Given the description of an element on the screen output the (x, y) to click on. 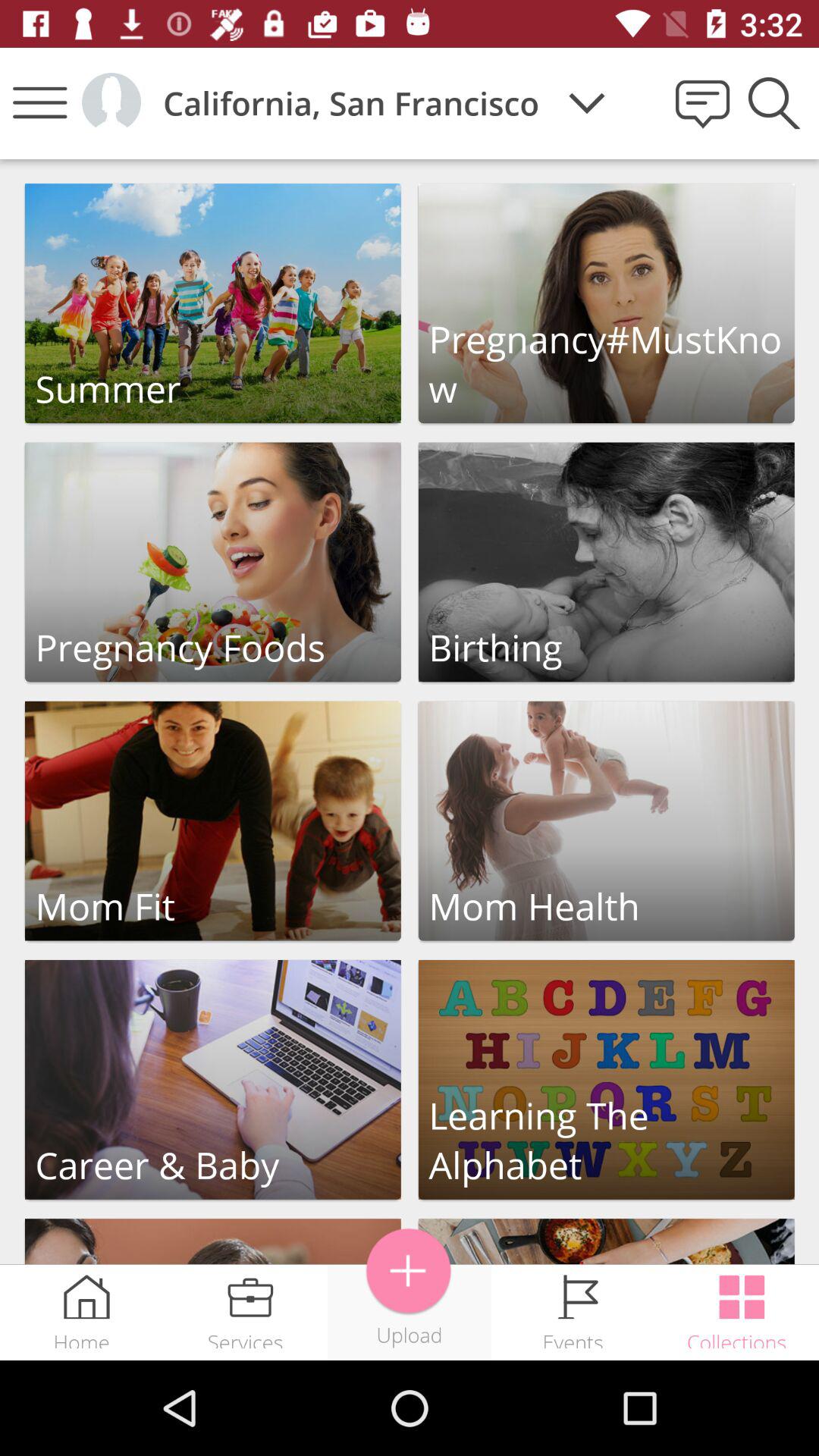
click on pregnancy foods (212, 561)
